Given the description of an element on the screen output the (x, y) to click on. 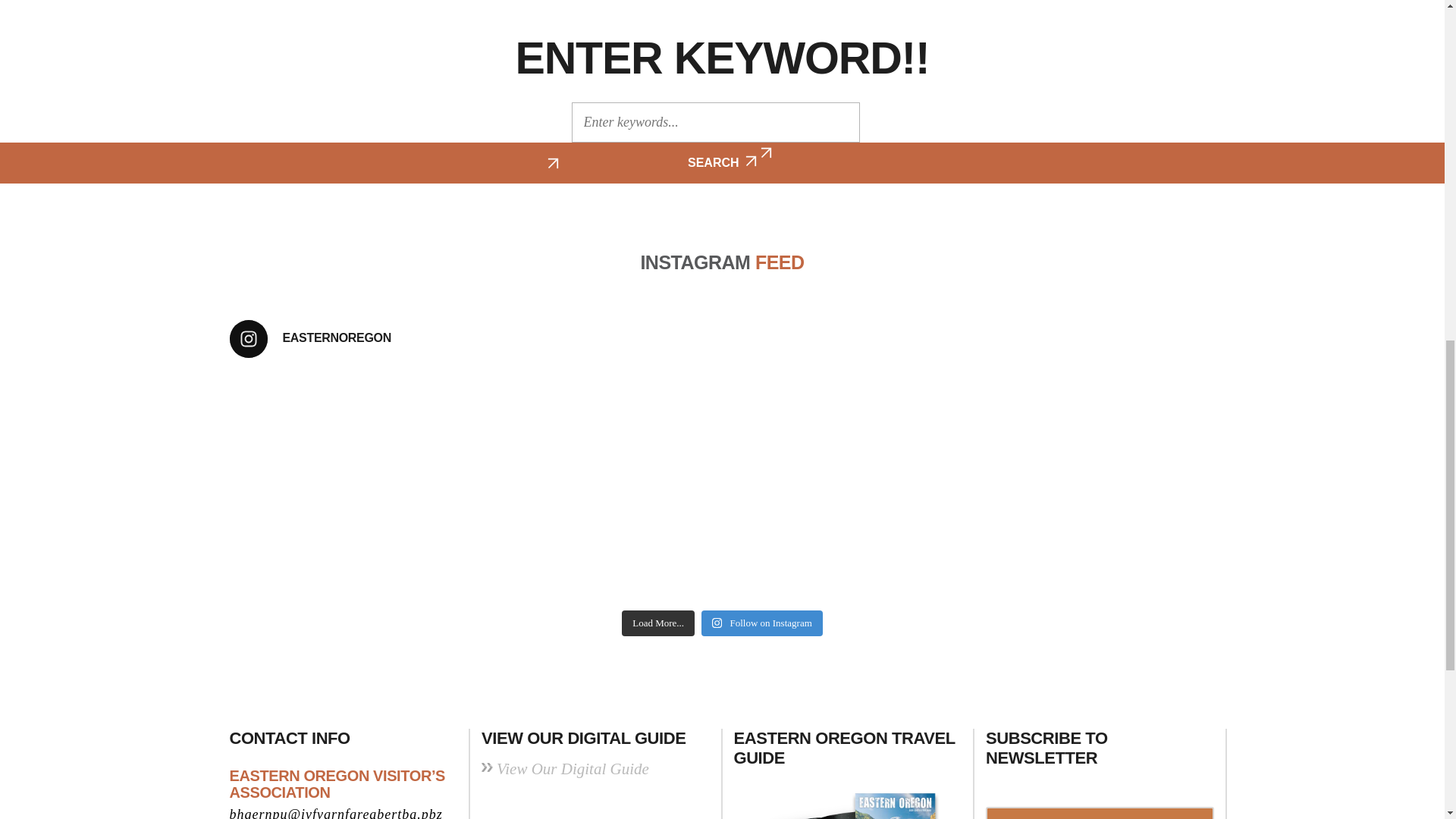
Enter keywords (716, 122)
EASTERNOREGON (721, 338)
SEARCH (722, 162)
